Given the description of an element on the screen output the (x, y) to click on. 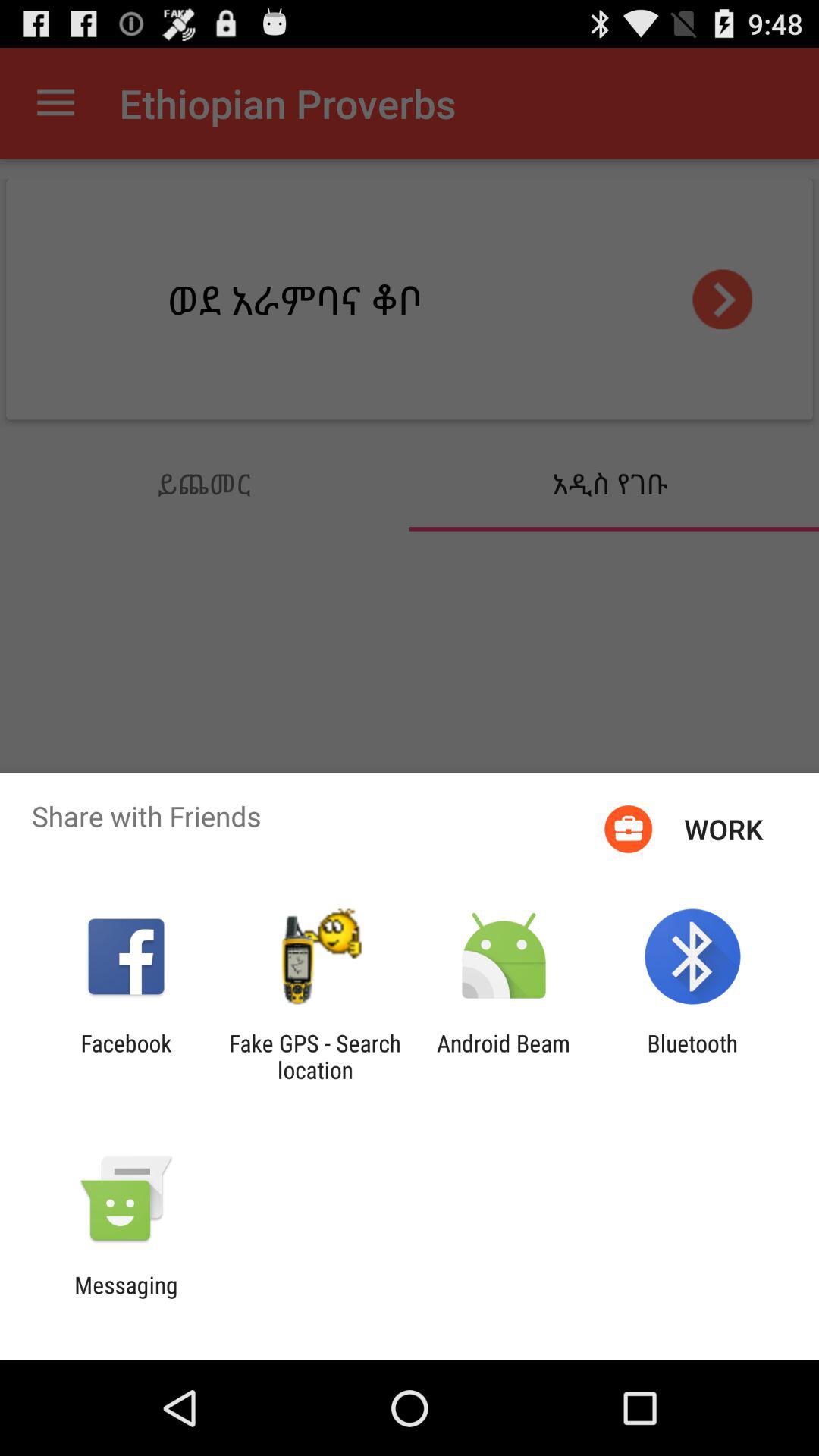
select icon to the left of the fake gps search icon (125, 1056)
